Given the description of an element on the screen output the (x, y) to click on. 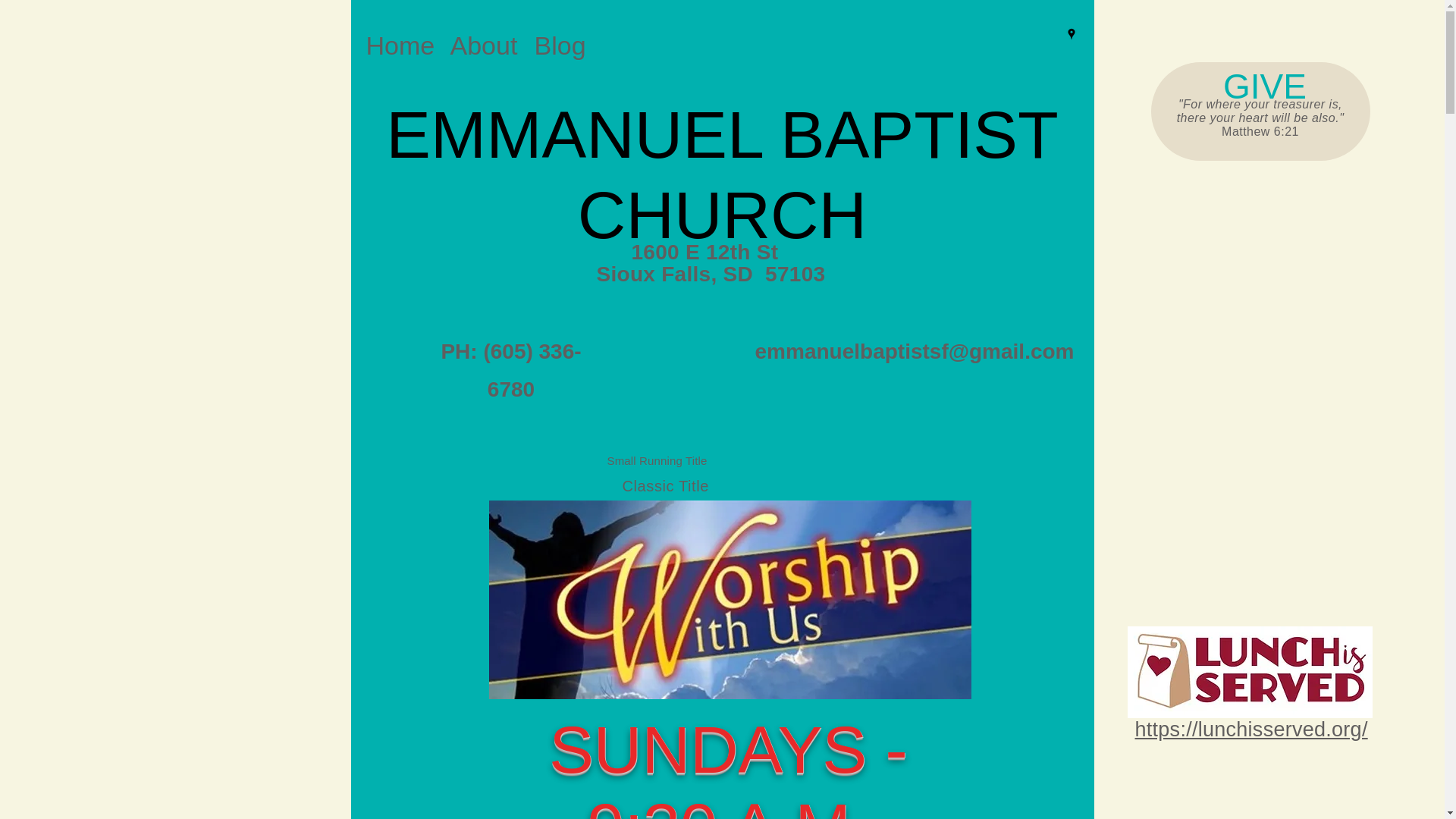
Blog (560, 44)
Home (400, 44)
GIVE (1264, 86)
About (484, 44)
Lunch is Served color NEW.jpg (1248, 672)
